Given the description of an element on the screen output the (x, y) to click on. 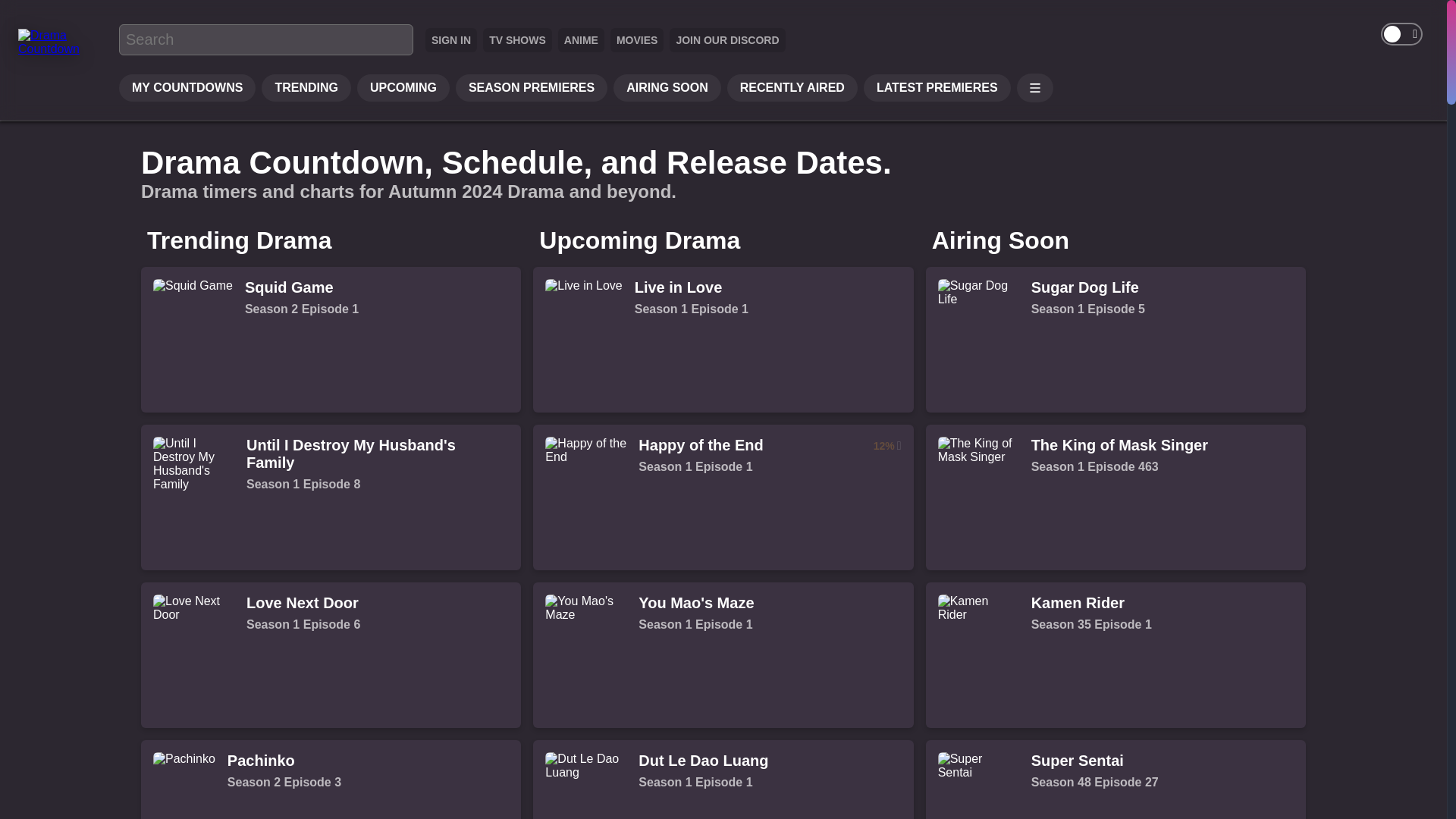
UPCOMING (402, 87)
MOVIES (636, 39)
SEASON PREMIERES (531, 87)
TRENDING (331, 779)
LATEST PREMIERES (306, 87)
ANIME (936, 87)
AIRING SOON (580, 39)
